Given the description of an element on the screen output the (x, y) to click on. 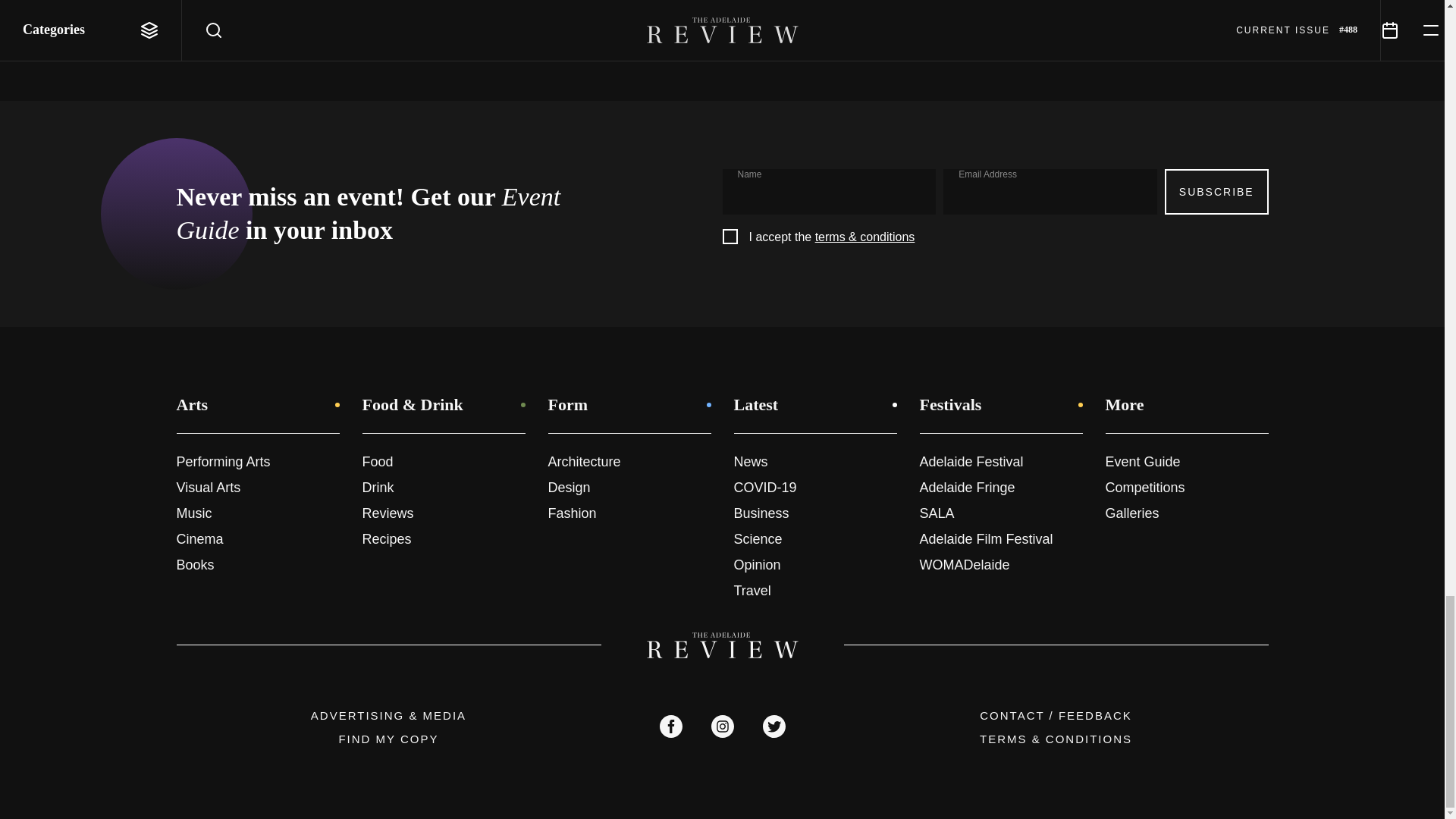
Twitter (773, 726)
Instagram (721, 726)
Facebook (670, 726)
